Given the description of an element on the screen output the (x, y) to click on. 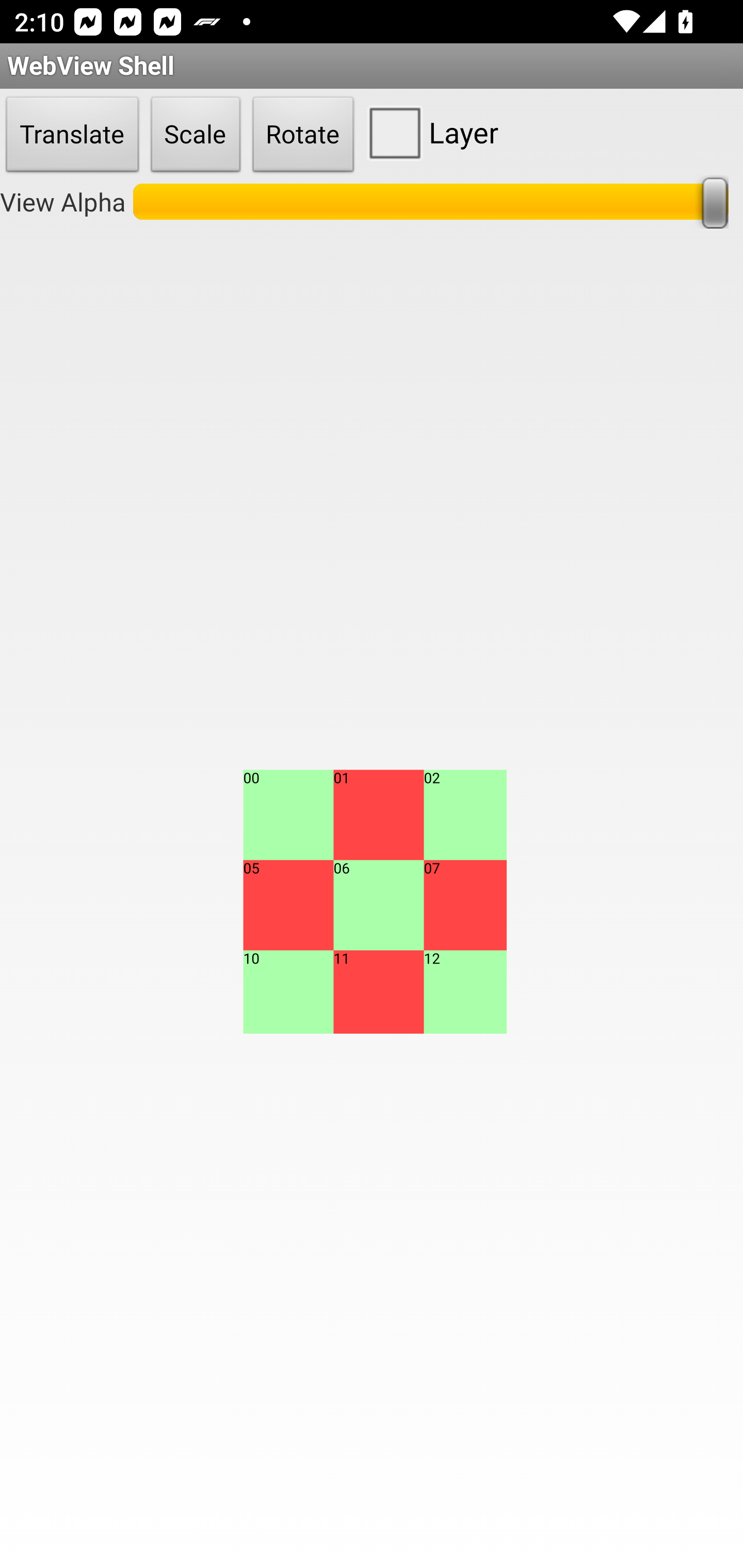
Layer (429, 132)
Translate (72, 135)
Scale (195, 135)
Rotate (303, 135)
